Given the description of an element on the screen output the (x, y) to click on. 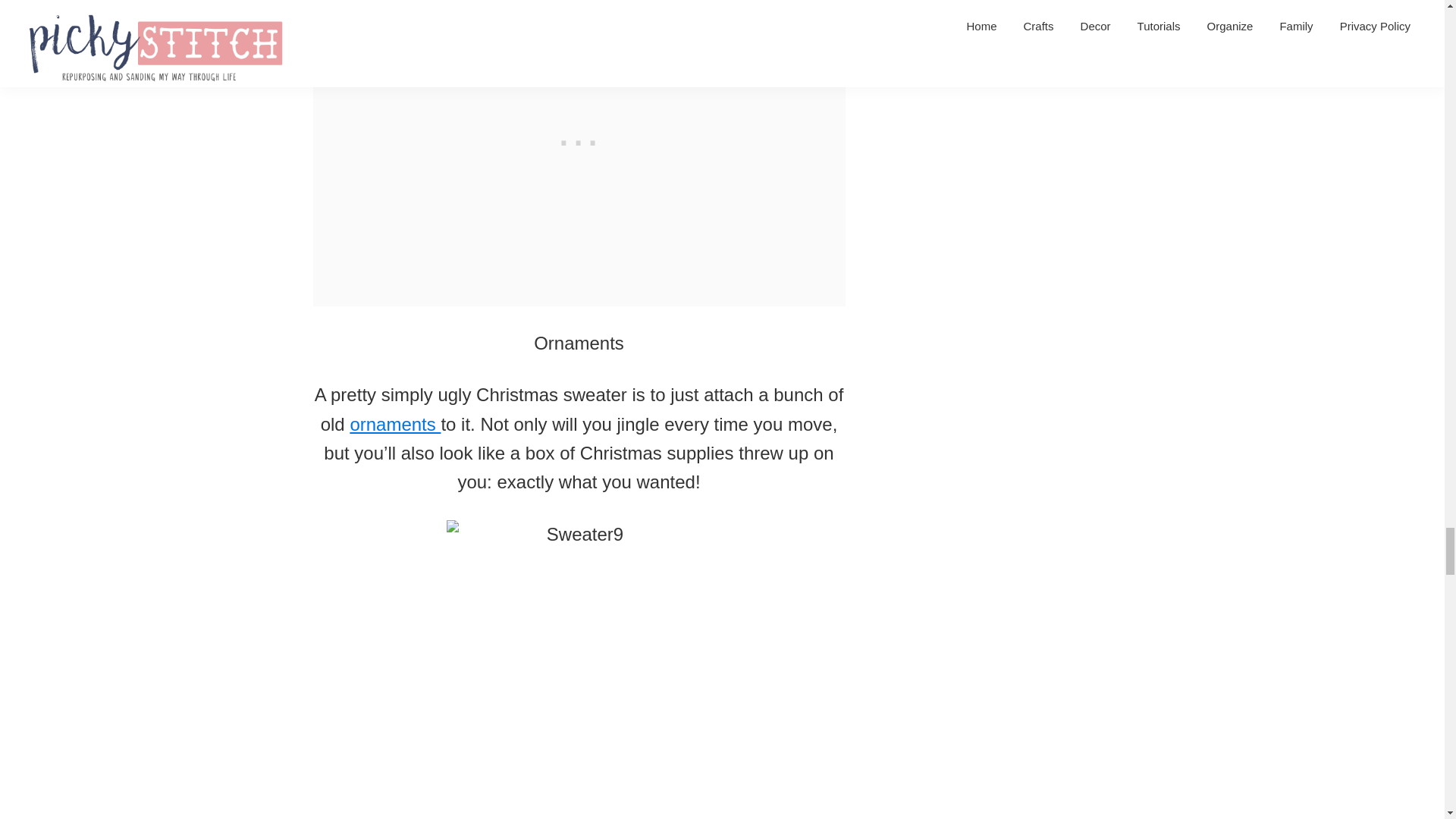
ornaments (395, 424)
